Given the description of an element on the screen output the (x, y) to click on. 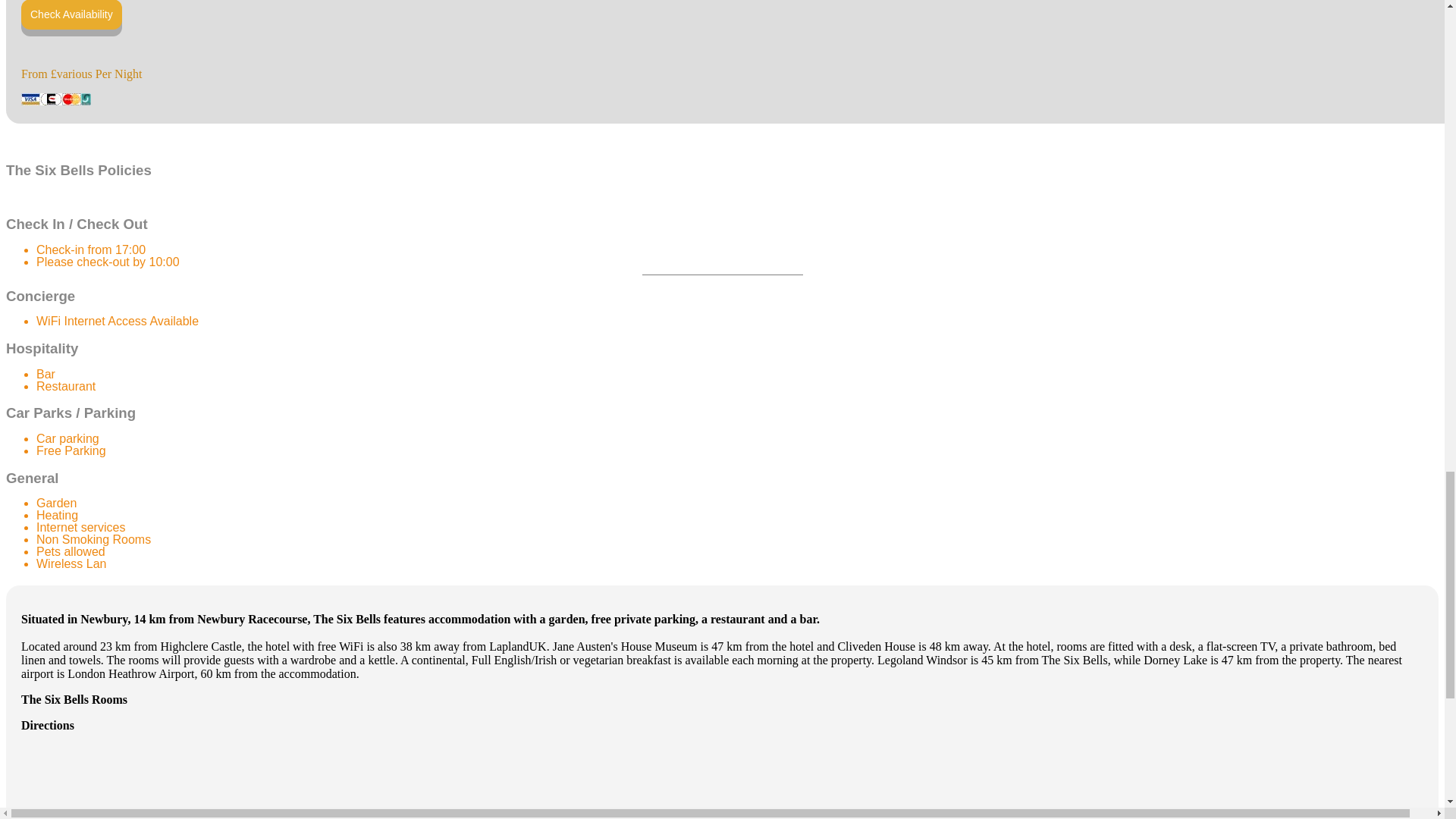
Check Availability (71, 14)
Check Availability (71, 14)
